Given the description of an element on the screen output the (x, y) to click on. 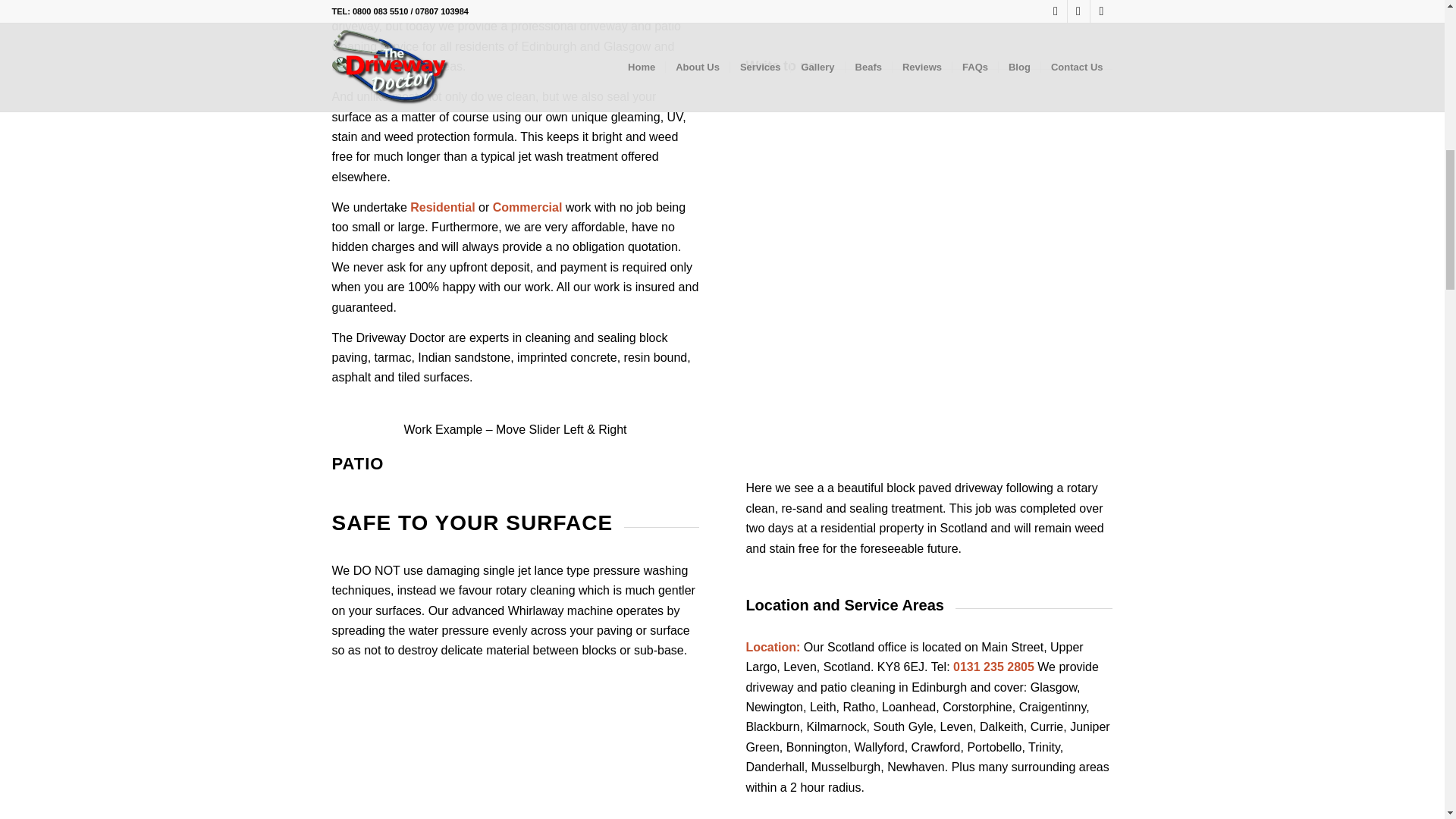
Whirlaway-on-patio (514, 750)
